Given the description of an element on the screen output the (x, y) to click on. 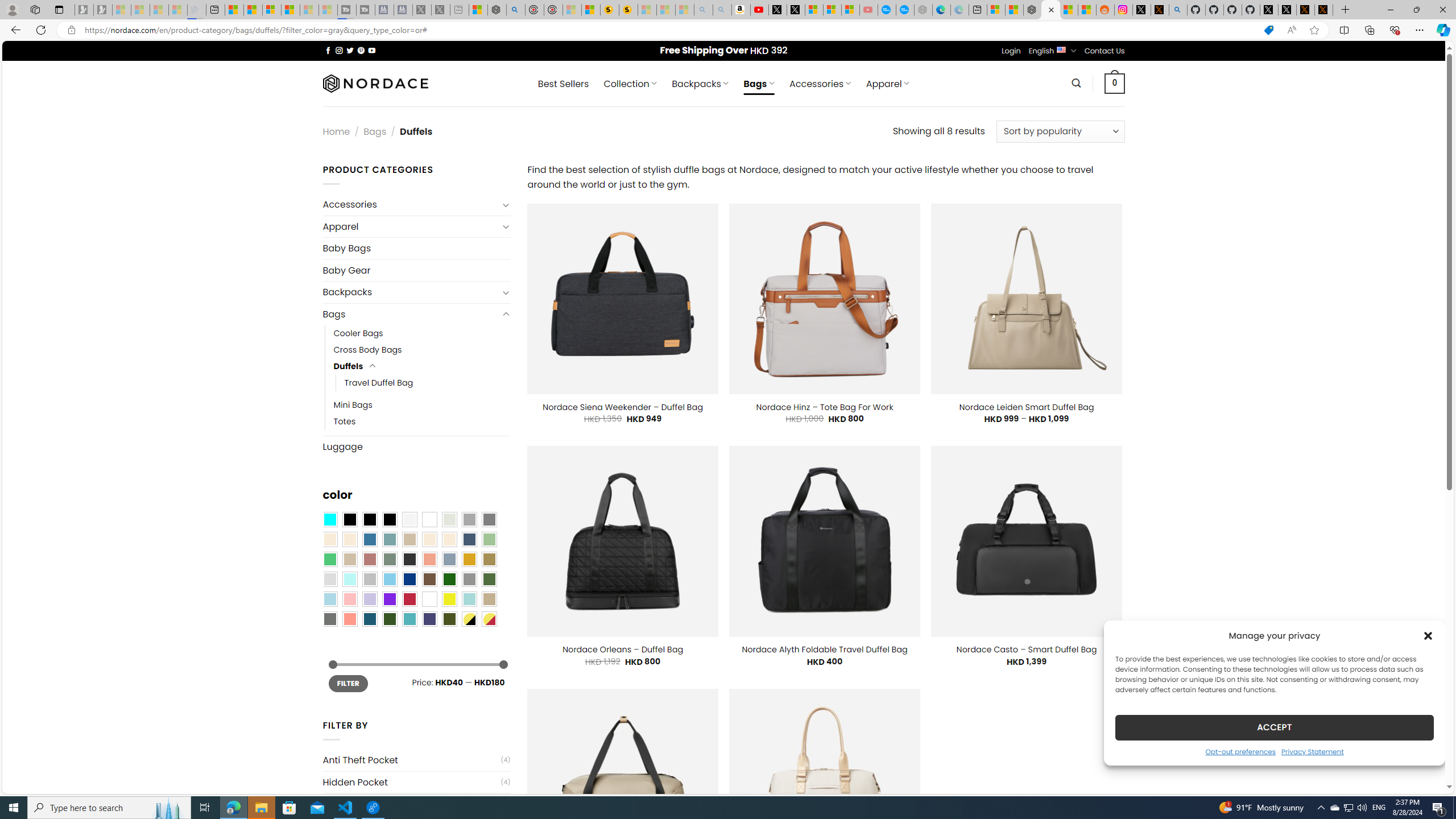
 0  (1115, 83)
Navy Blue (408, 579)
Shop order (1060, 131)
Light Blue (329, 599)
Yellow-Red (488, 618)
Bags (410, 314)
Coral (429, 559)
